Given the description of an element on the screen output the (x, y) to click on. 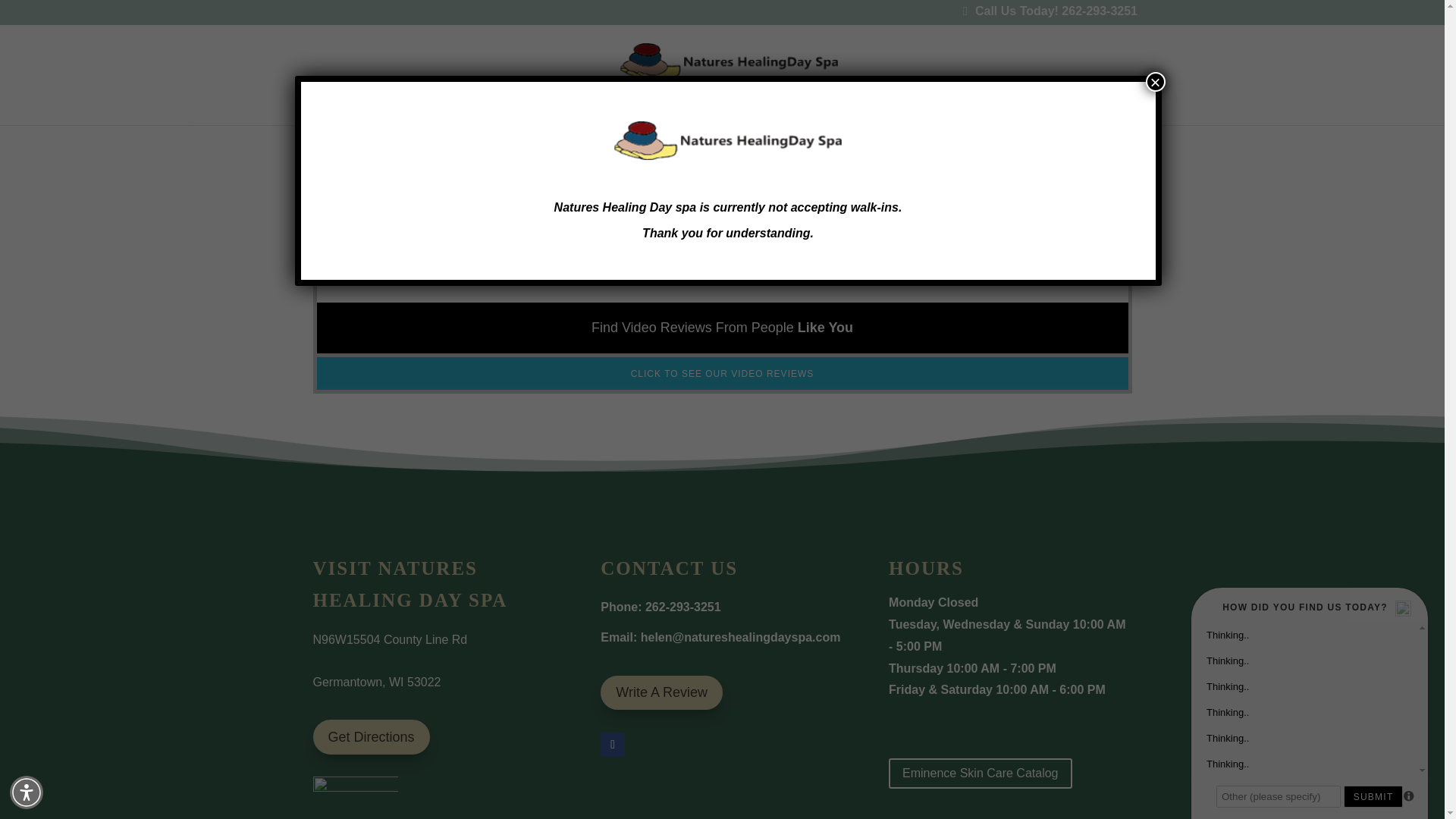
Follow on Facebook (611, 744)
